Given the description of an element on the screen output the (x, y) to click on. 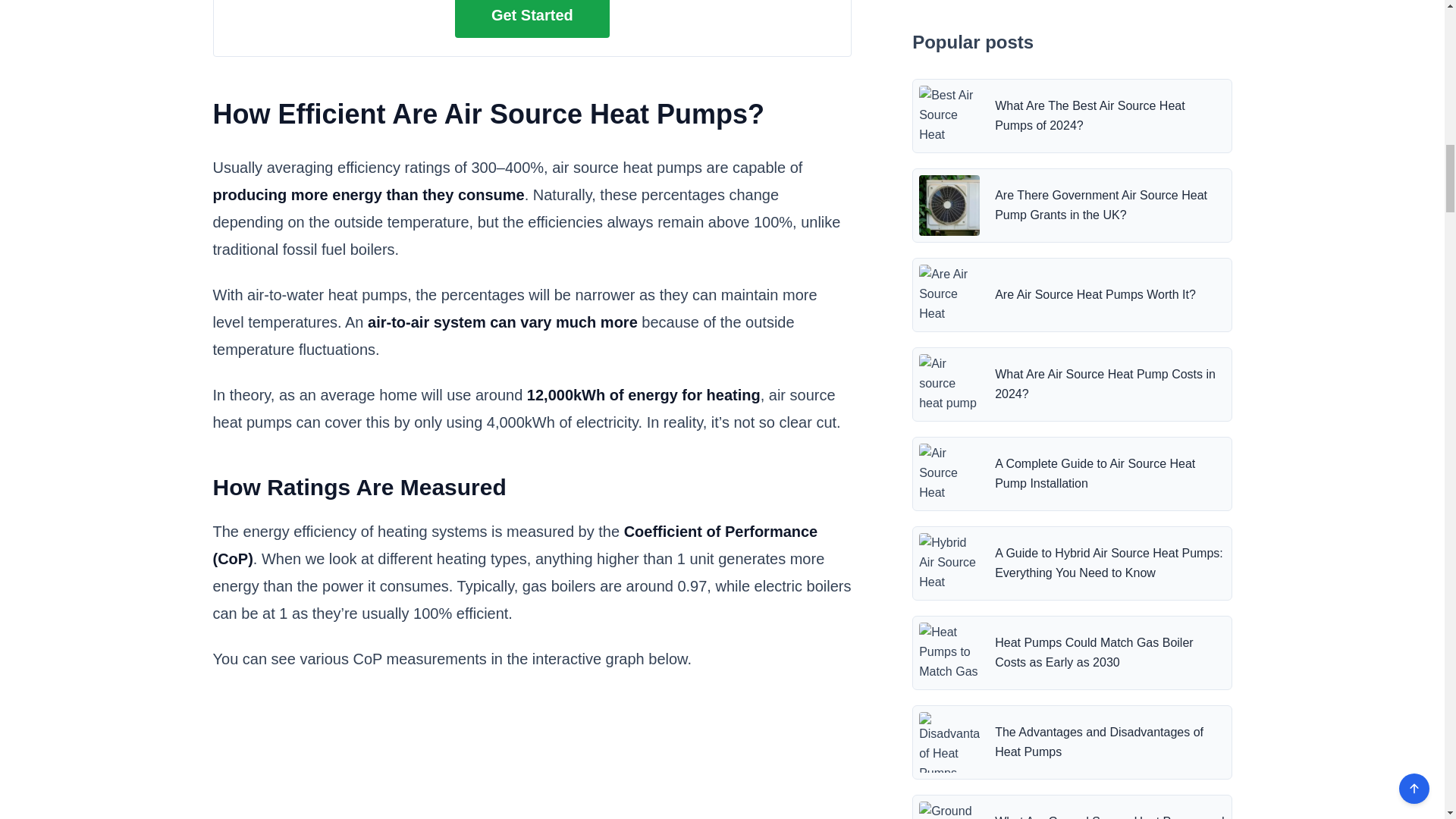
Interactive or visual content (531, 760)
